Given the description of an element on the screen output the (x, y) to click on. 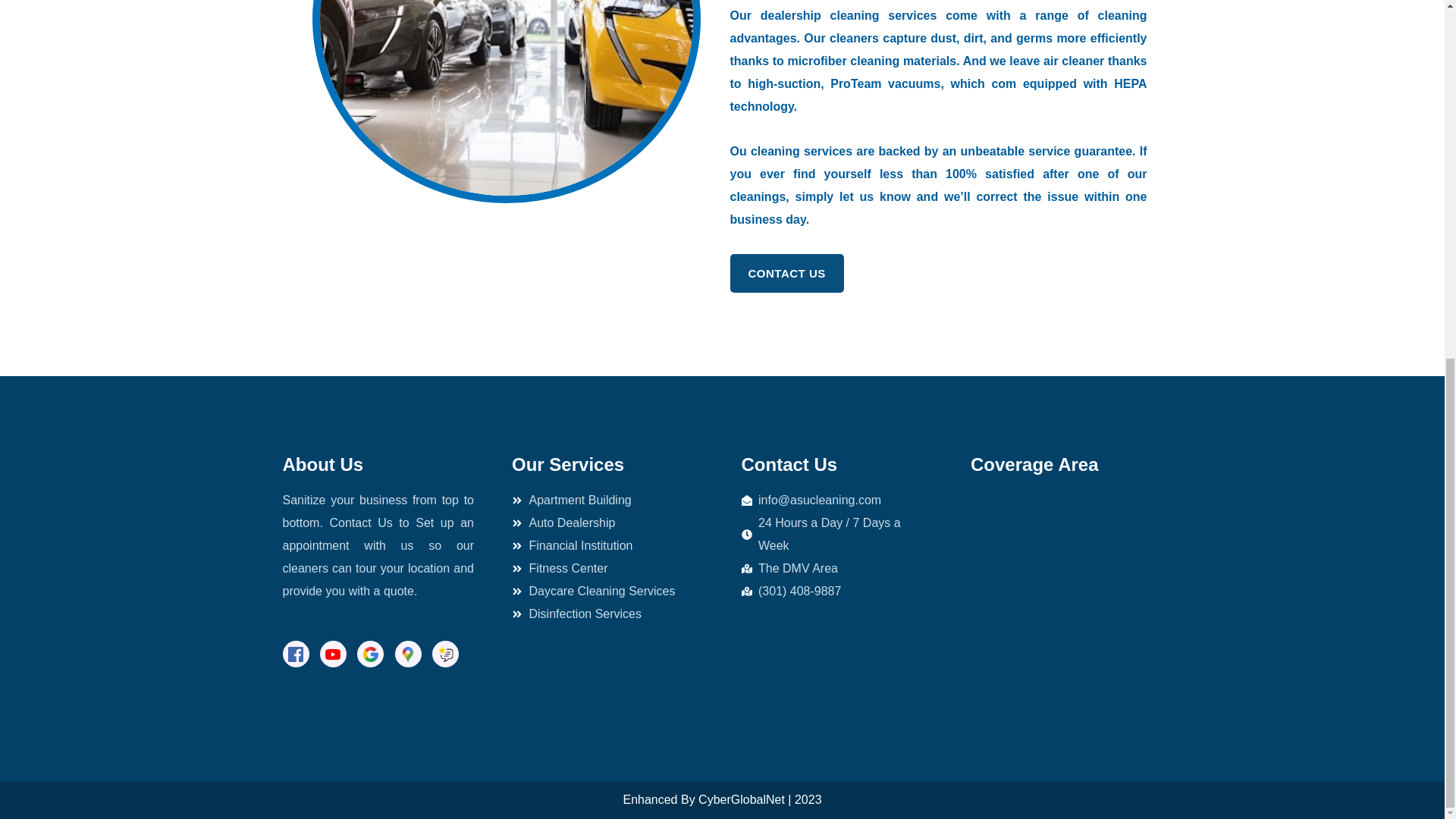
googlemaps-asucleaning (1066, 602)
